Given the description of an element on the screen output the (x, y) to click on. 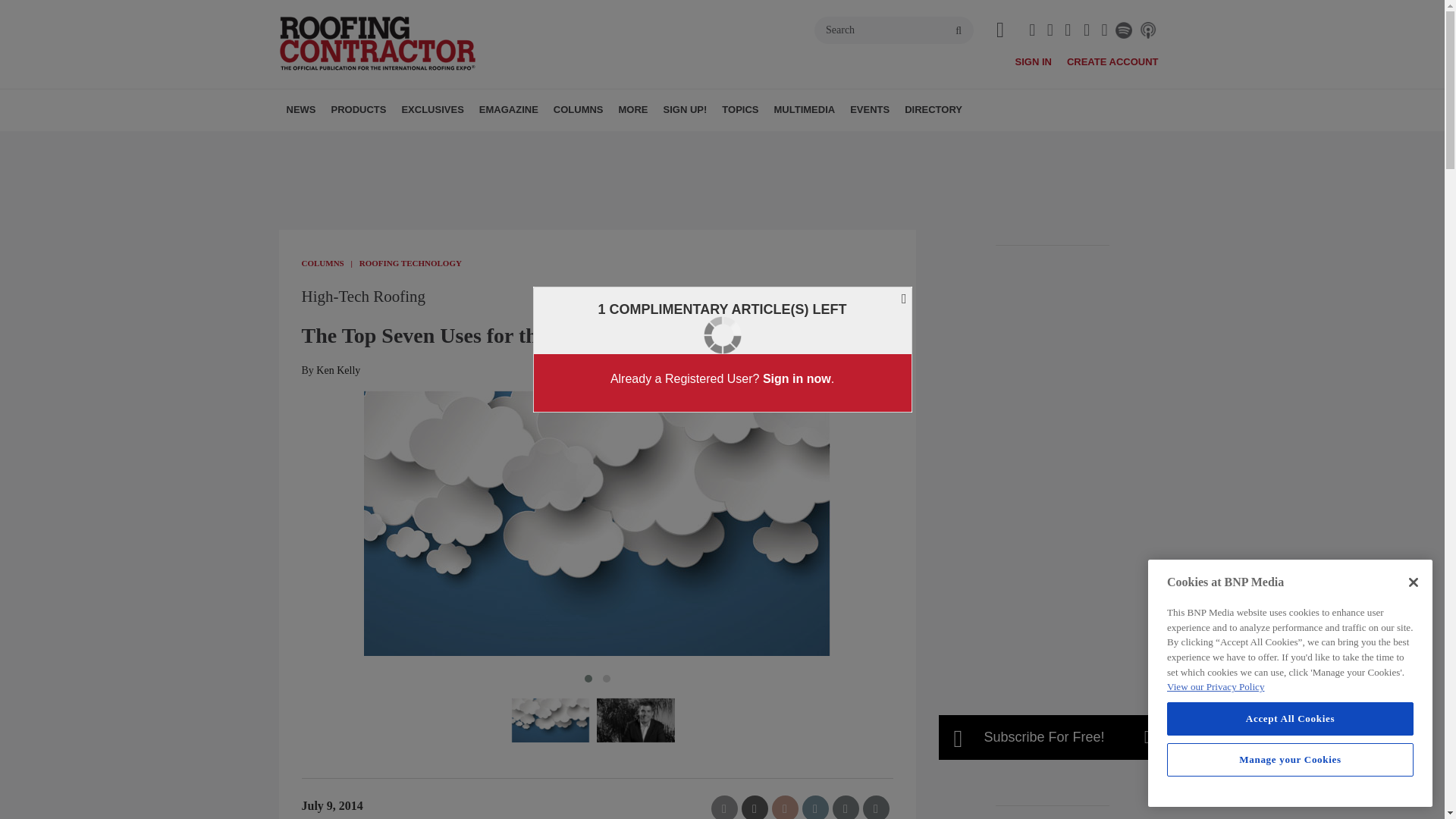
Search (893, 30)
Search (893, 30)
